Given the description of an element on the screen output the (x, y) to click on. 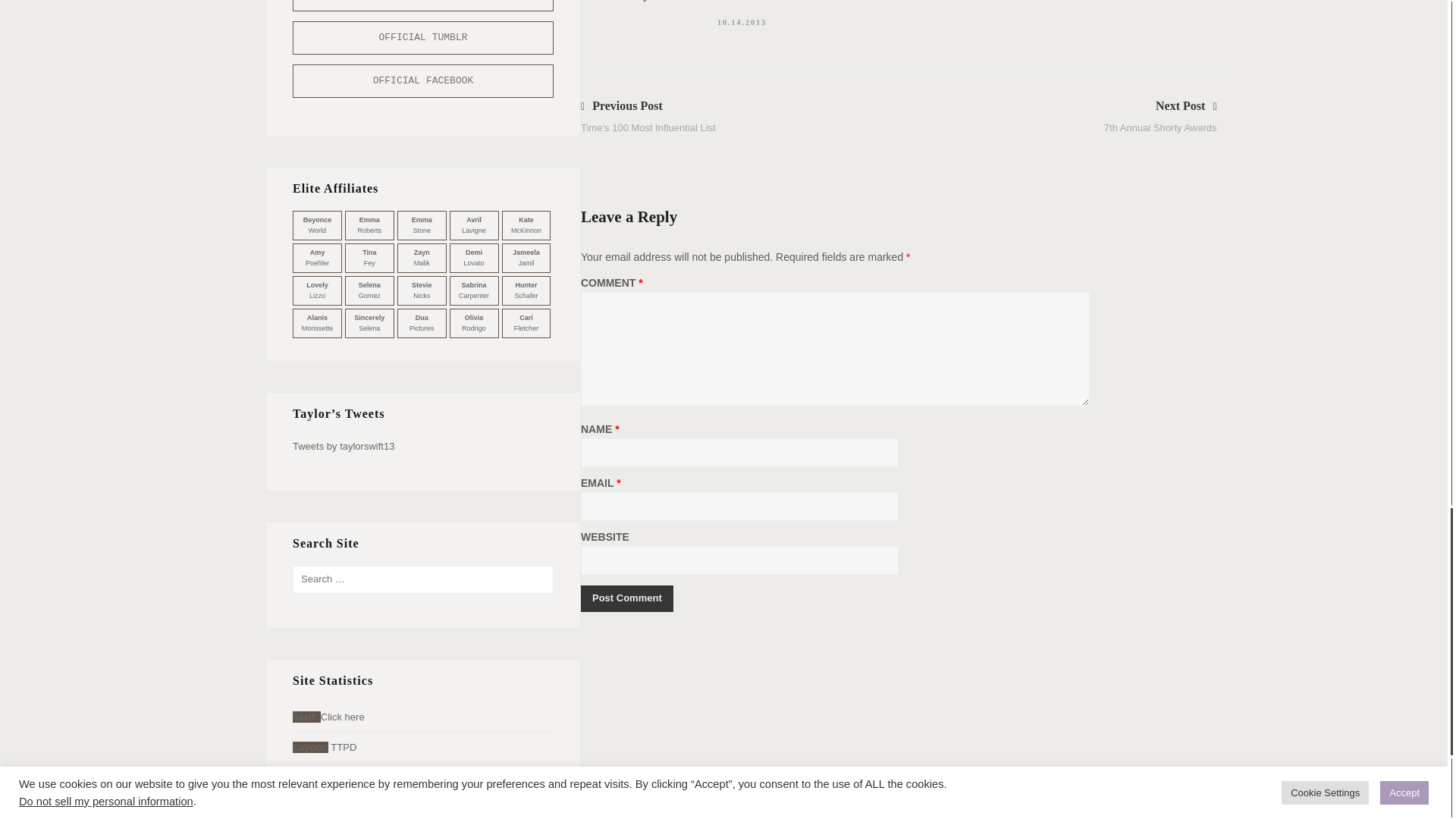
Post Comment (626, 598)
